Given the description of an element on the screen output the (x, y) to click on. 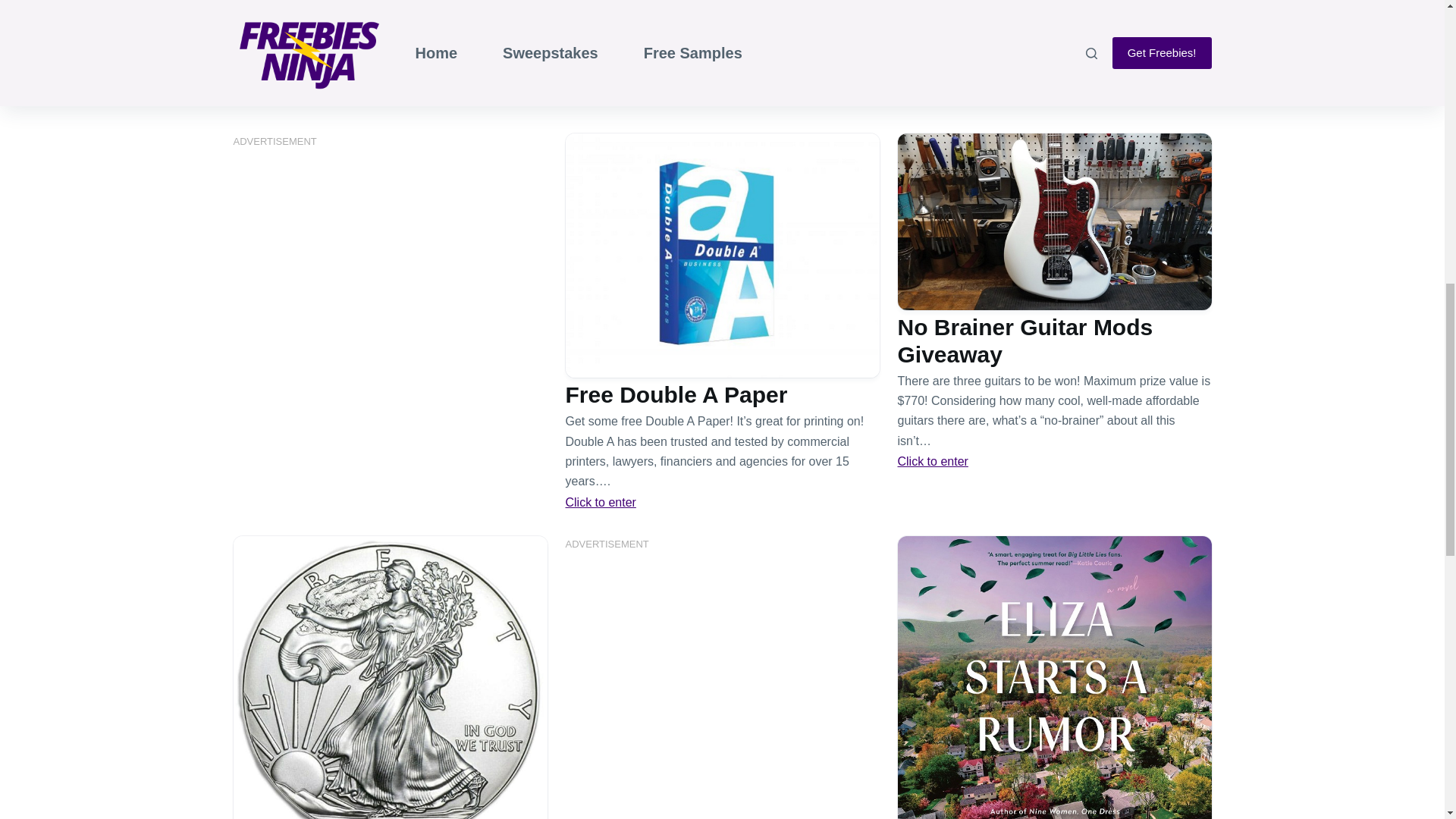
Click to enter (601, 502)
Click to enter (933, 461)
No Brainer Guitar Mods Giveaway (1025, 340)
Free Double A Paper (676, 394)
Click to enter (933, 99)
